Given the description of an element on the screen output the (x, y) to click on. 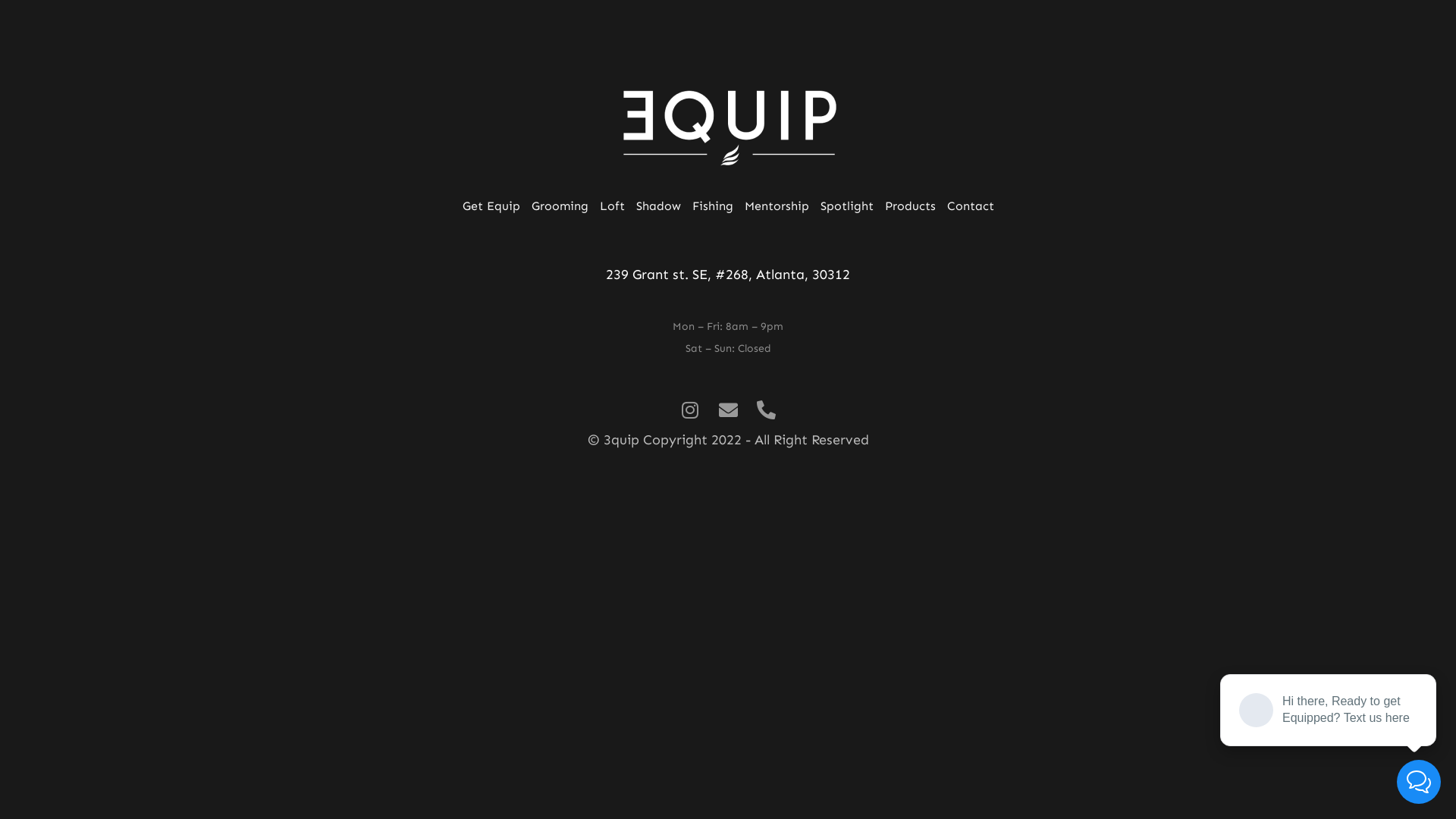
Contact Element type: text (969, 206)
Loft Element type: text (611, 206)
Fishing Element type: text (711, 206)
Products Element type: text (909, 206)
Spotlight Element type: text (846, 206)
Grooming Element type: text (558, 206)
Shadow Element type: text (657, 206)
Mentorship Element type: text (776, 206)
Get Equip Element type: text (491, 206)
